Given the description of an element on the screen output the (x, y) to click on. 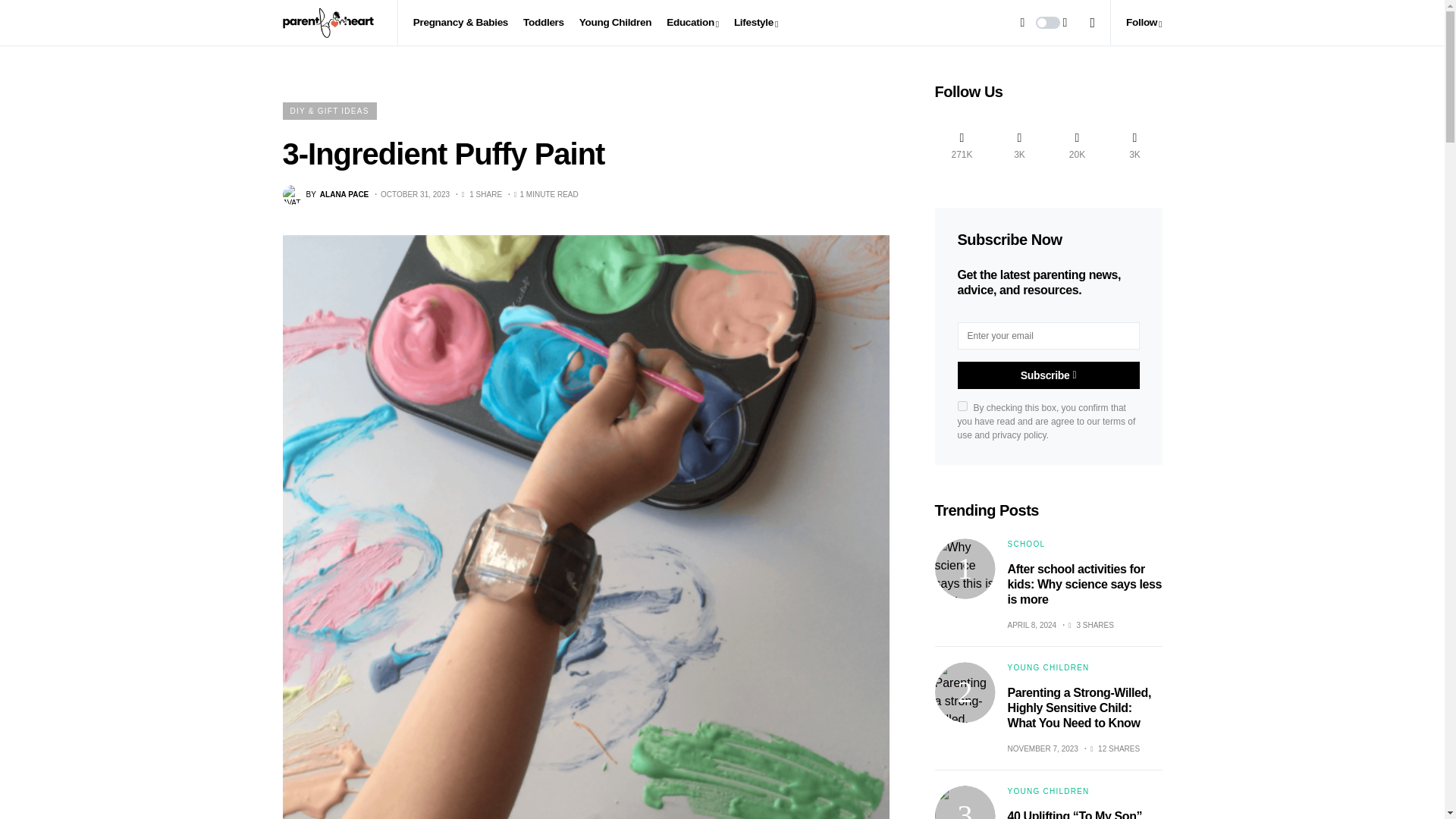
Education (692, 22)
Lifestyle (755, 22)
View all posts by Alana Pace (325, 194)
Young Children (614, 22)
on (961, 406)
Toddlers (543, 22)
